Given the description of an element on the screen output the (x, y) to click on. 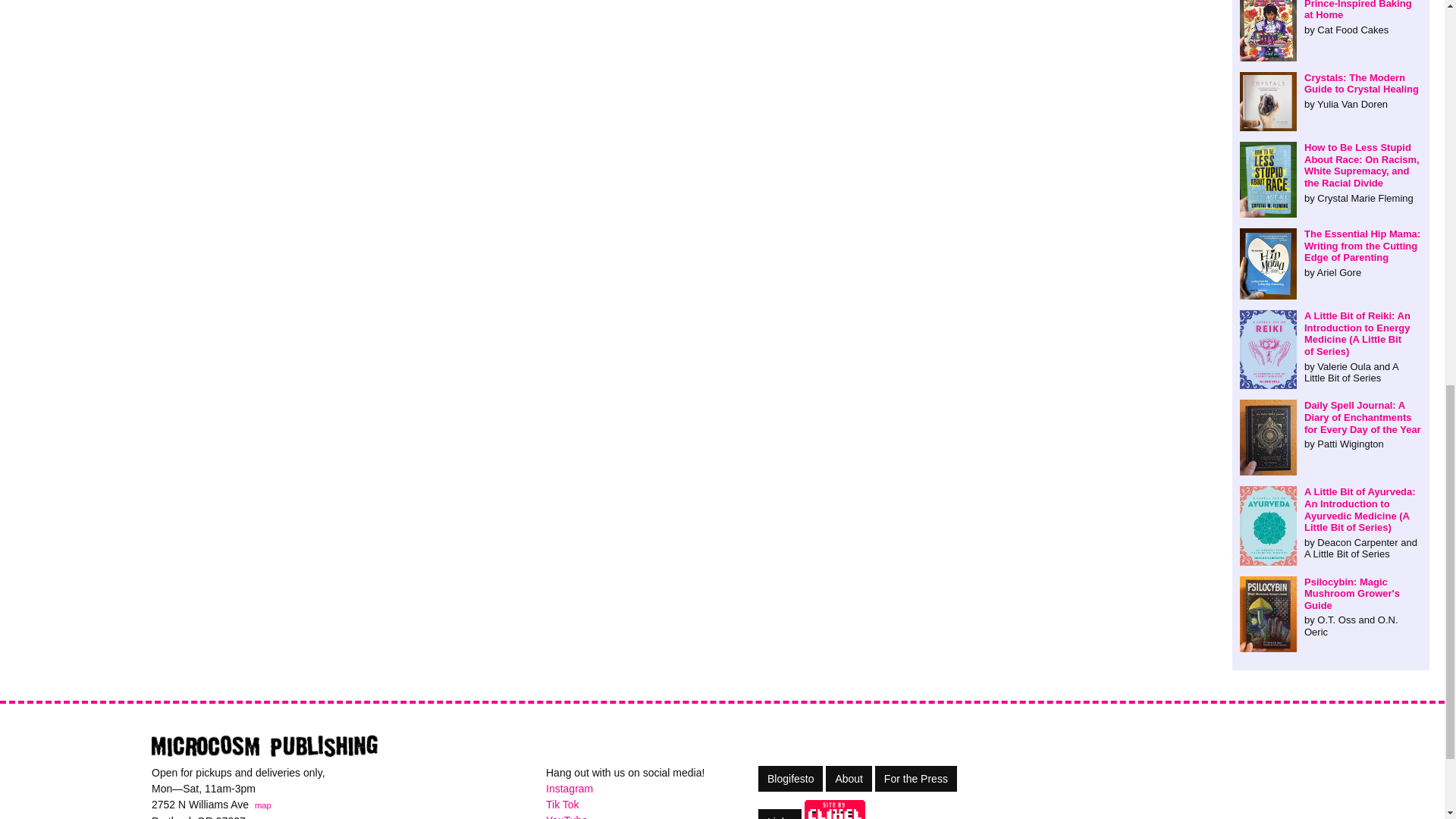
Little Red Velvette: Prince-Inspired Baking at Home (1331, 18)
Crystals: The Modern Guide to Crystal Healing (1331, 91)
Psilocybin: Magic Mushroom Grower's Guide (1331, 607)
